Given the description of an element on the screen output the (x, y) to click on. 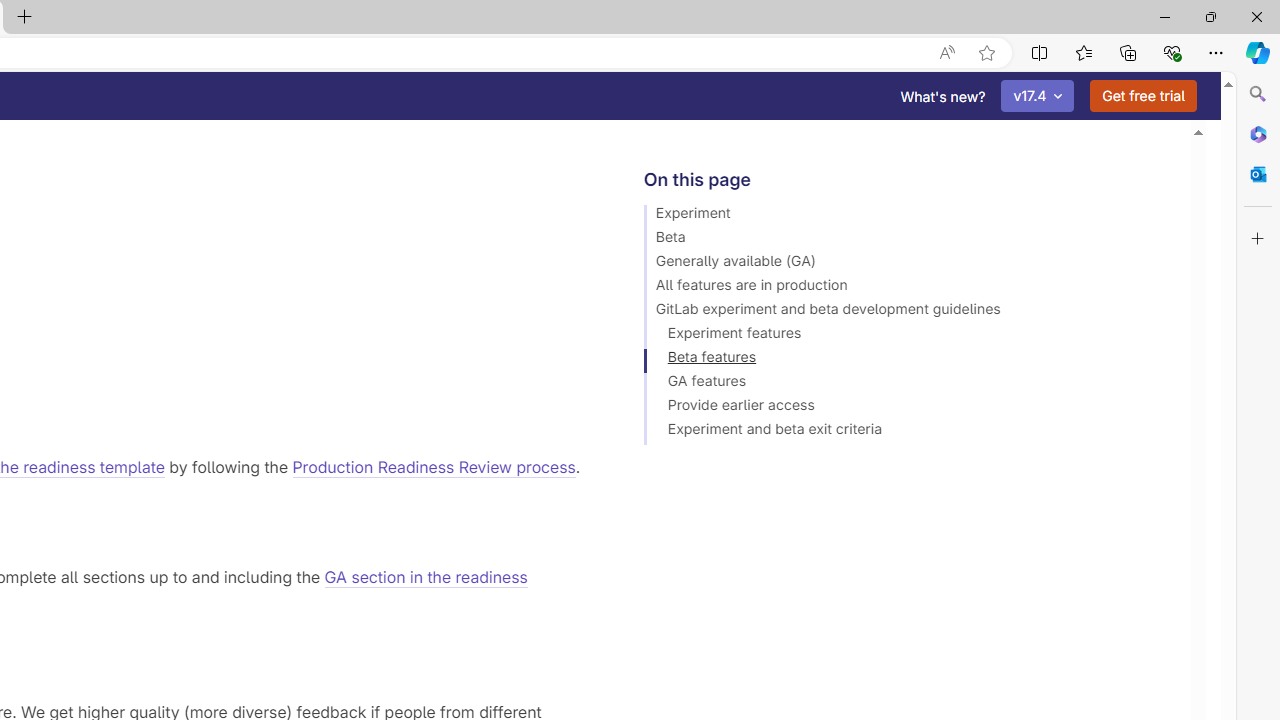
GA features (908, 384)
Beta features (908, 359)
GitLab experiment and beta development guidelines (908, 312)
Experiment and beta exit criteria (908, 431)
Production Readiness Review process (433, 466)
Get free trial (1143, 95)
Provide earlier access (908, 408)
Generally available (GA) (908, 264)
Generally available (GA) (908, 264)
